Given the description of an element on the screen output the (x, y) to click on. 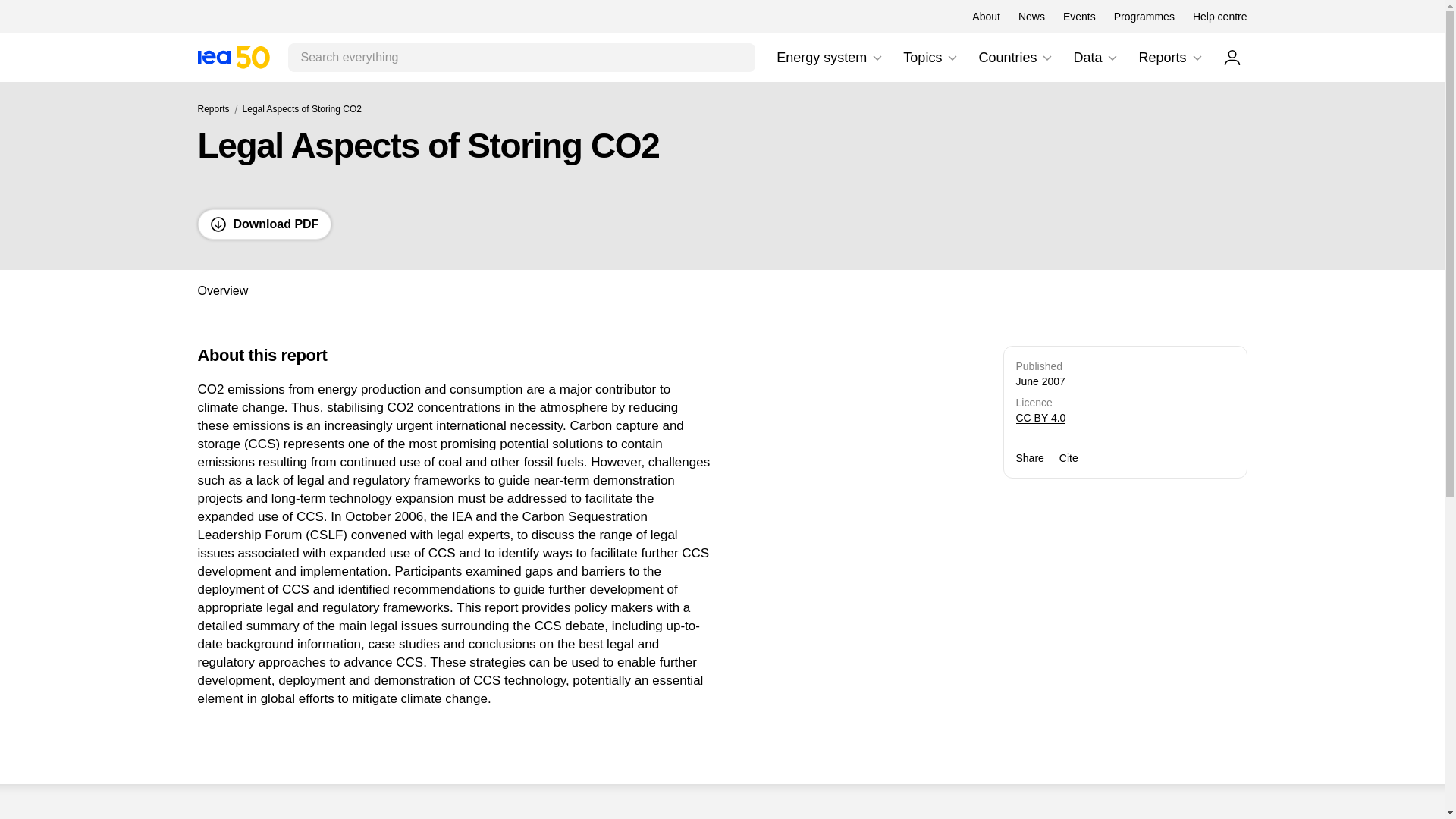
About (986, 16)
Chevron down (951, 57)
Chevron down (830, 57)
Chevron down (1046, 57)
User Profile (931, 57)
Events (877, 57)
Programmes (1231, 57)
IEA (1079, 16)
